Given the description of an element on the screen output the (x, y) to click on. 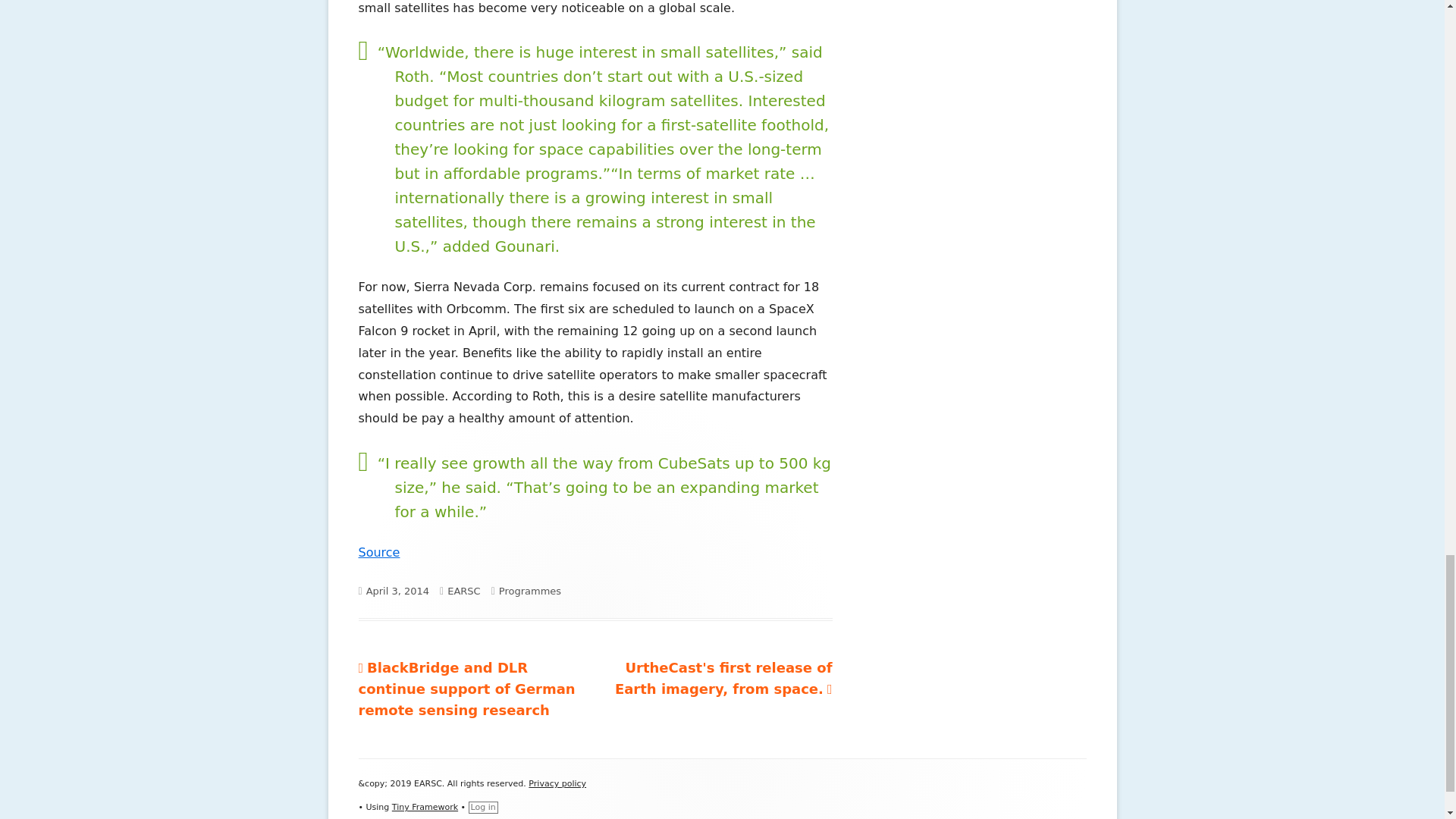
Privacy policy (557, 783)
Programmes (529, 591)
Source (378, 552)
EARSC (463, 591)
April 3, 2014 (397, 591)
